Given the description of an element on the screen output the (x, y) to click on. 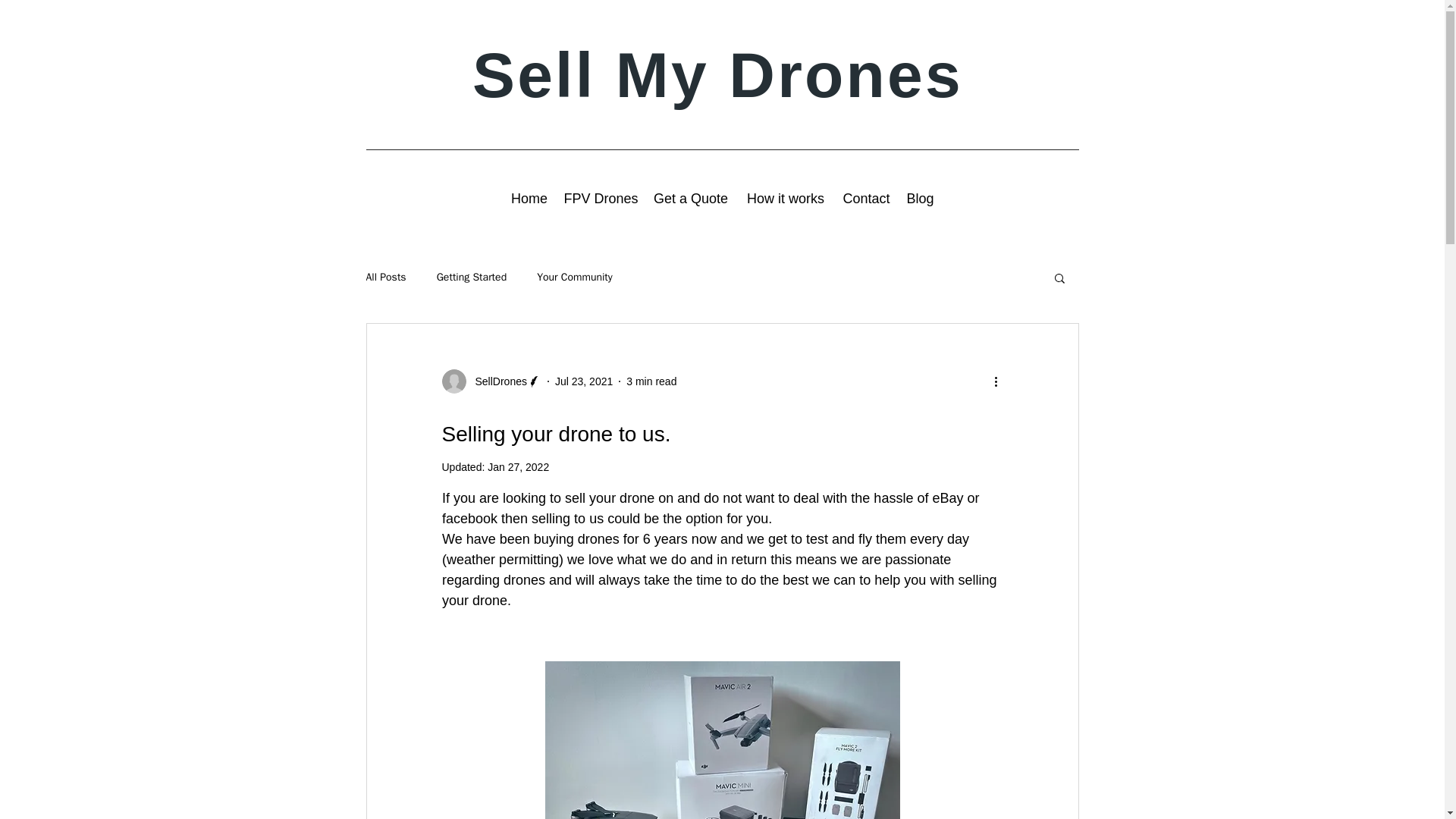
Jan 27, 2022 (517, 467)
Home (529, 198)
Jul 23, 2021 (583, 380)
Getting Started (471, 277)
All Posts (385, 277)
Contact (866, 198)
Get a Quote (690, 198)
SellDrones (490, 381)
FPV Drones (600, 198)
3 min read (651, 380)
